Given the description of an element on the screen output the (x, y) to click on. 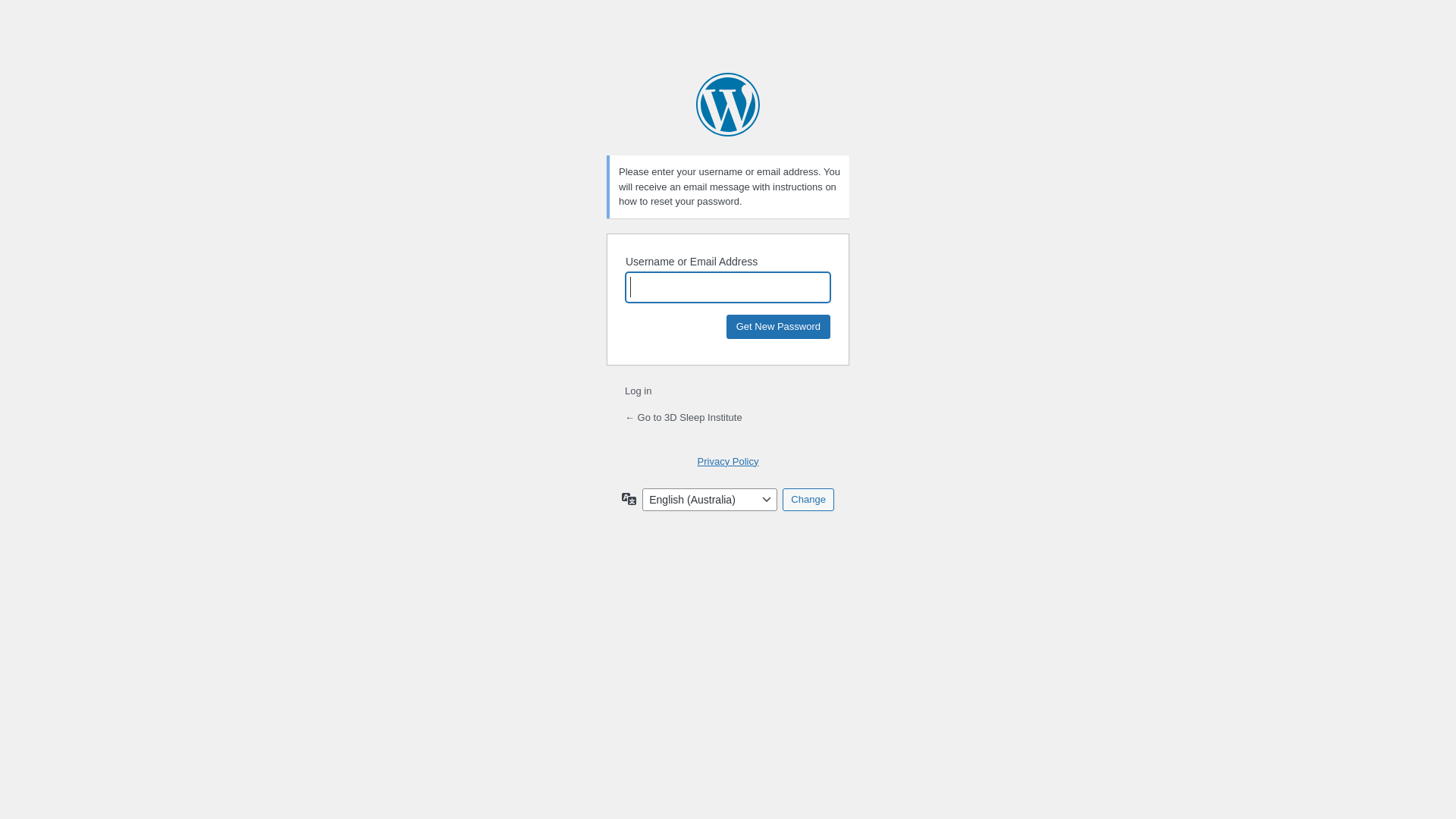
Powered by WordPress Element type: text (727, 104)
Get New Password Element type: text (778, 325)
Privacy Policy Element type: text (728, 460)
Change Element type: text (808, 499)
Log in Element type: text (637, 390)
